Given the description of an element on the screen output the (x, y) to click on. 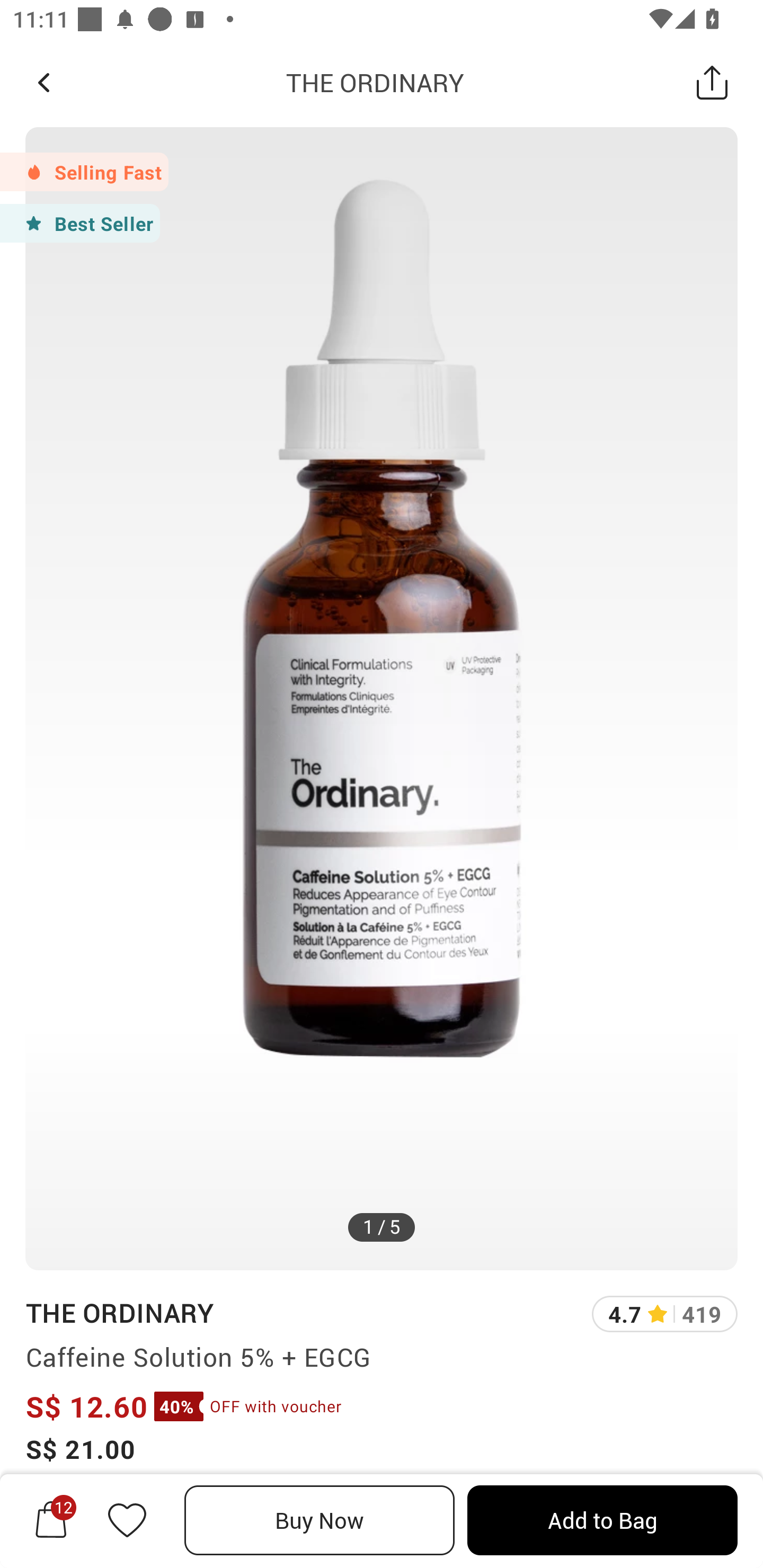
THE ORDINARY (375, 82)
Share this Product (711, 82)
THE ORDINARY (119, 1312)
4.7 419 (664, 1313)
Buy Now (319, 1519)
Add to Bag (601, 1519)
12 (50, 1520)
